Given the description of an element on the screen output the (x, y) to click on. 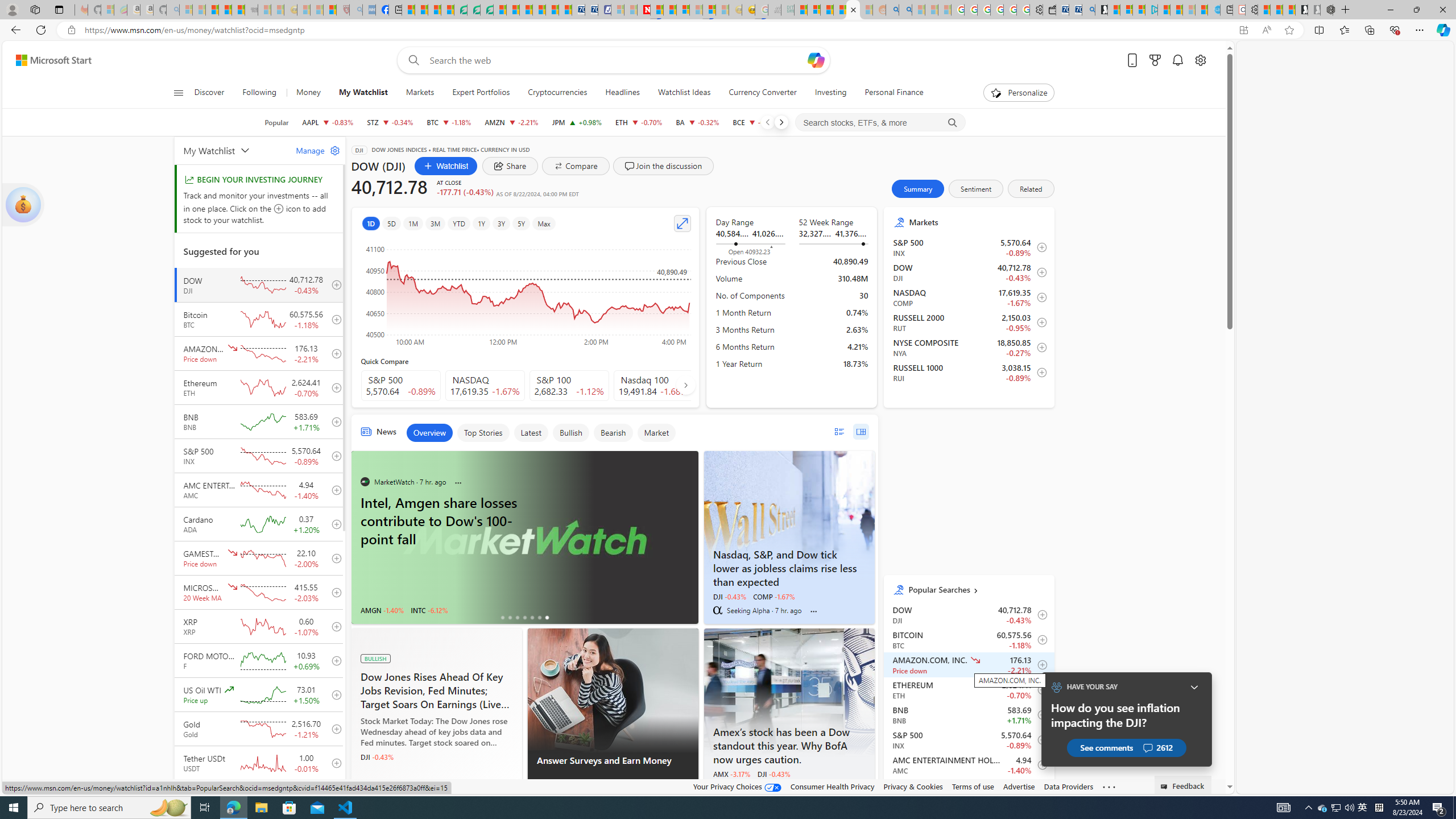
The Weather Channel - MSN (212, 9)
show card (22, 204)
Microsoft Word - consumer-privacy address update 2.2021 (486, 9)
Markets (976, 222)
My Watchlist (363, 92)
1D (370, 223)
AMX -3.17% (731, 773)
Privacy & Cookies (913, 785)
Consumer Health Privacy (832, 786)
